Given the description of an element on the screen output the (x, y) to click on. 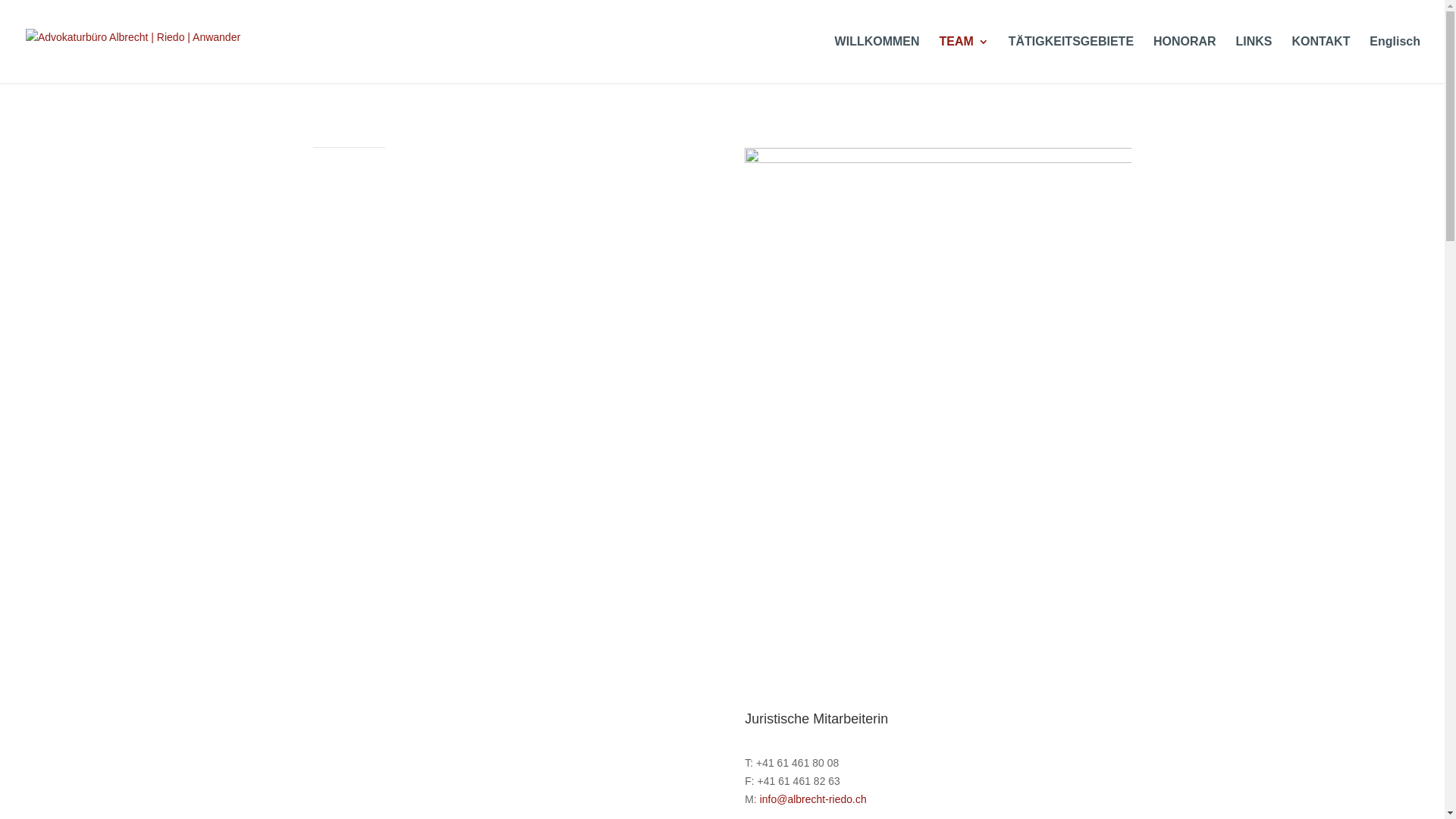
KONTAKT Element type: text (1320, 59)
info@albrecht-riedo.ch Element type: text (812, 799)
LINKS Element type: text (1254, 59)
HONORAR Element type: text (1184, 59)
Englisch Element type: text (1394, 59)
TEAM Element type: text (963, 59)
Frei_Lavinia-01 Element type: hover (937, 418)
WILLKOMMEN Element type: text (876, 59)
